Given the description of an element on the screen output the (x, y) to click on. 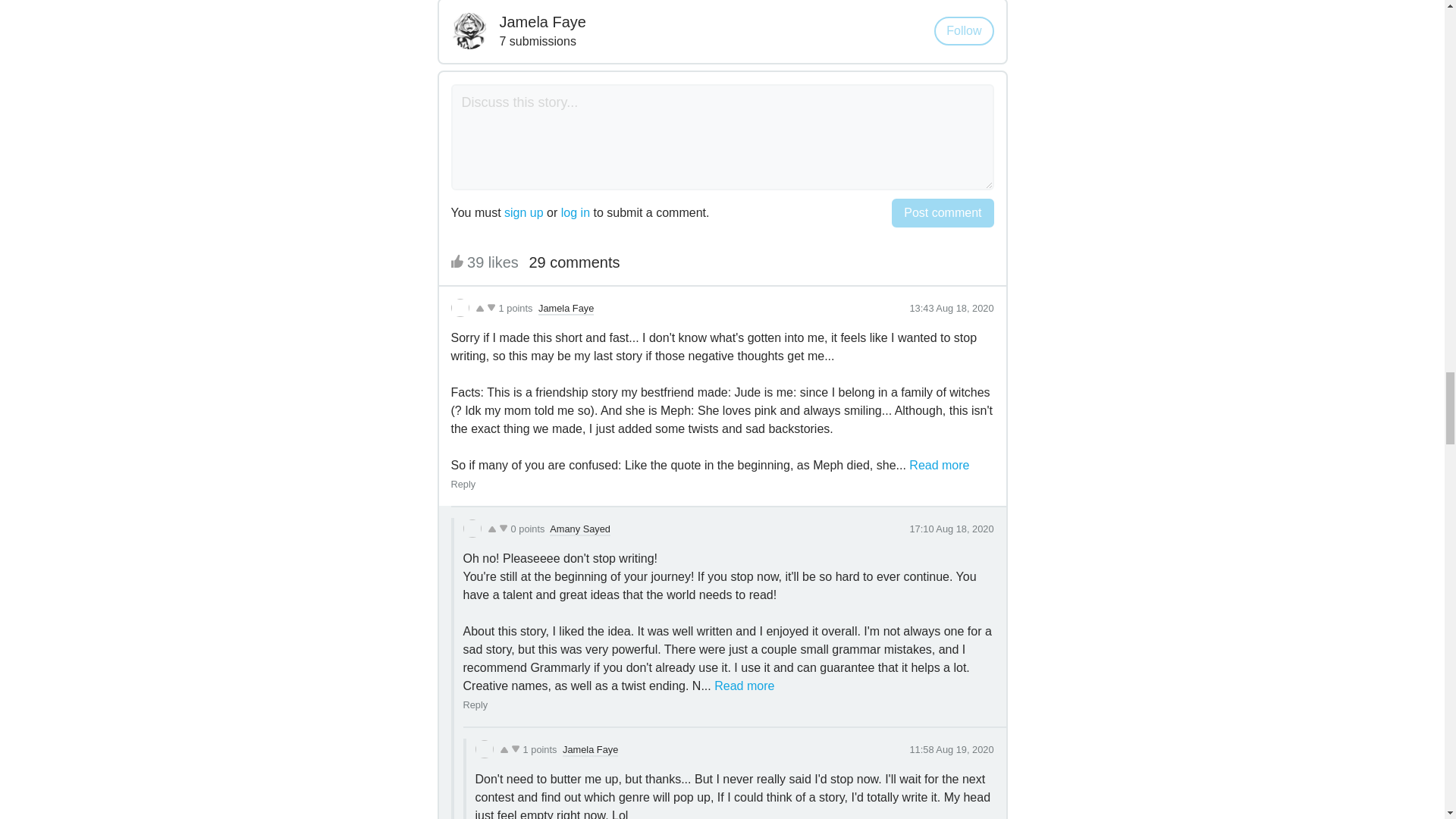
Post comment (941, 213)
Read more (744, 686)
Read more (938, 465)
